Given the description of an element on the screen output the (x, y) to click on. 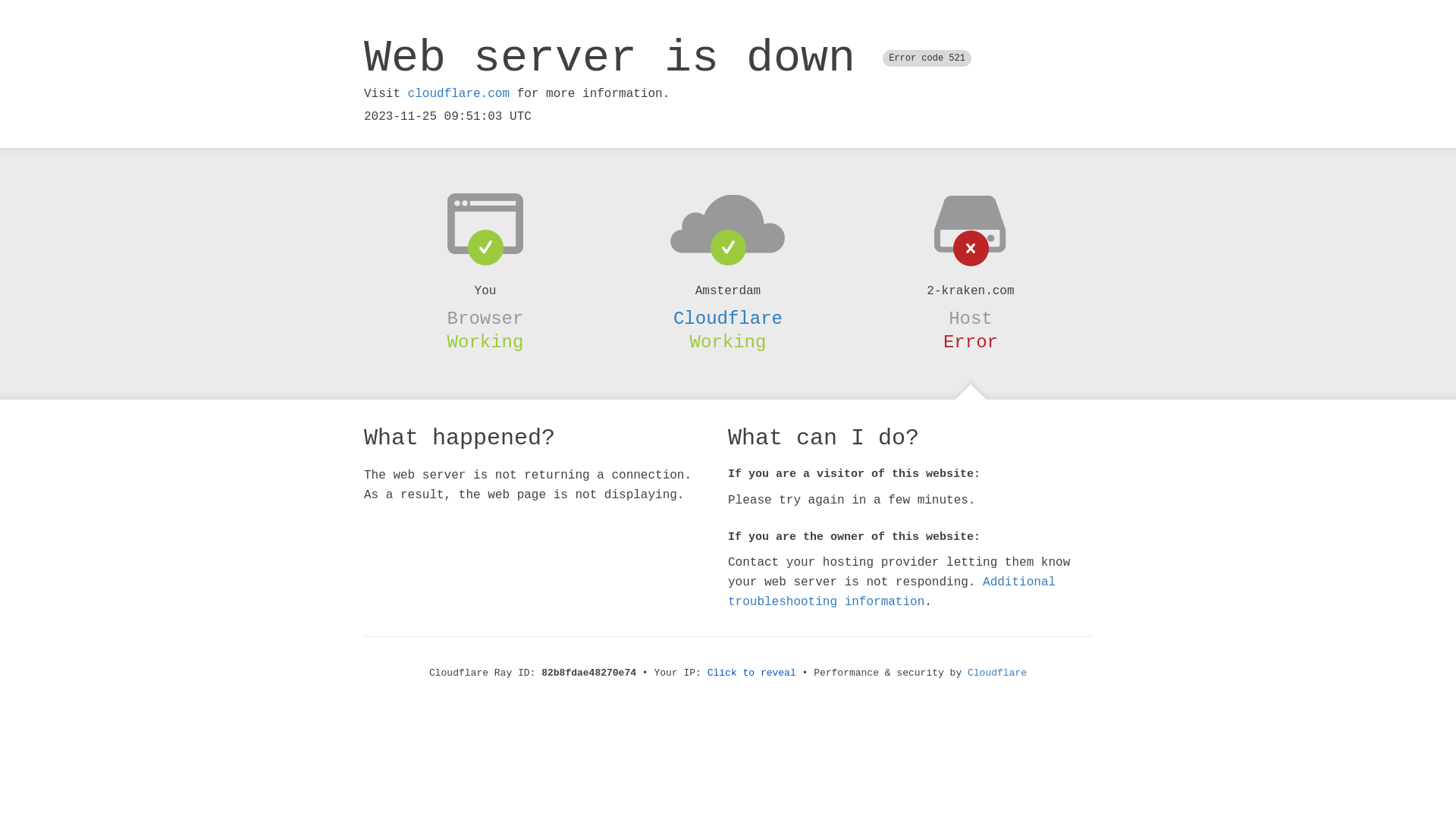
cloudflare.com Element type: text (458, 93)
Click to reveal Element type: text (751, 672)
Cloudflare Element type: text (727, 318)
Cloudflare Element type: text (996, 672)
Additional troubleshooting information Element type: text (891, 591)
